Given the description of an element on the screen output the (x, y) to click on. 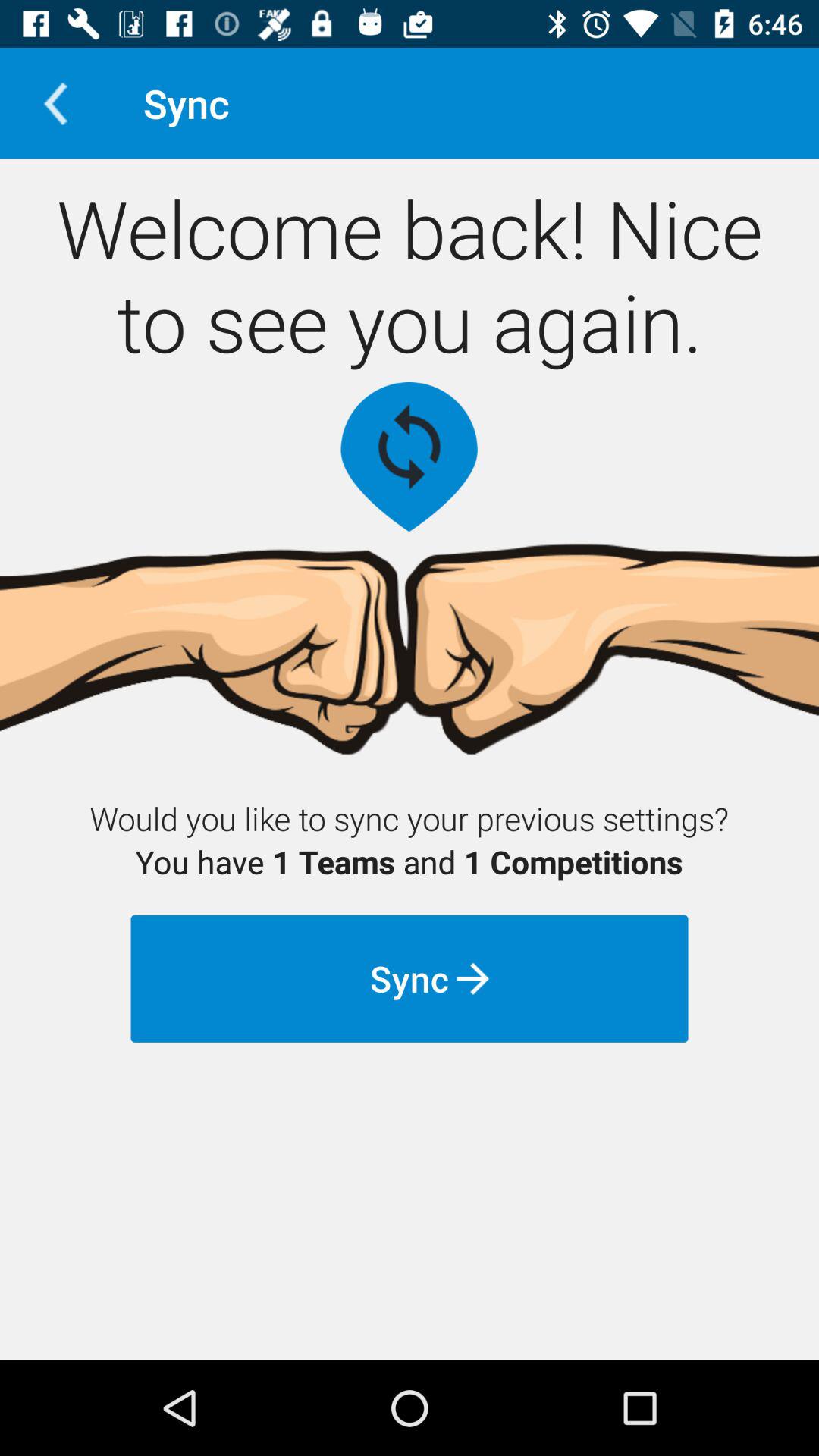
press item above welcome back nice icon (55, 103)
